Given the description of an element on the screen output the (x, y) to click on. 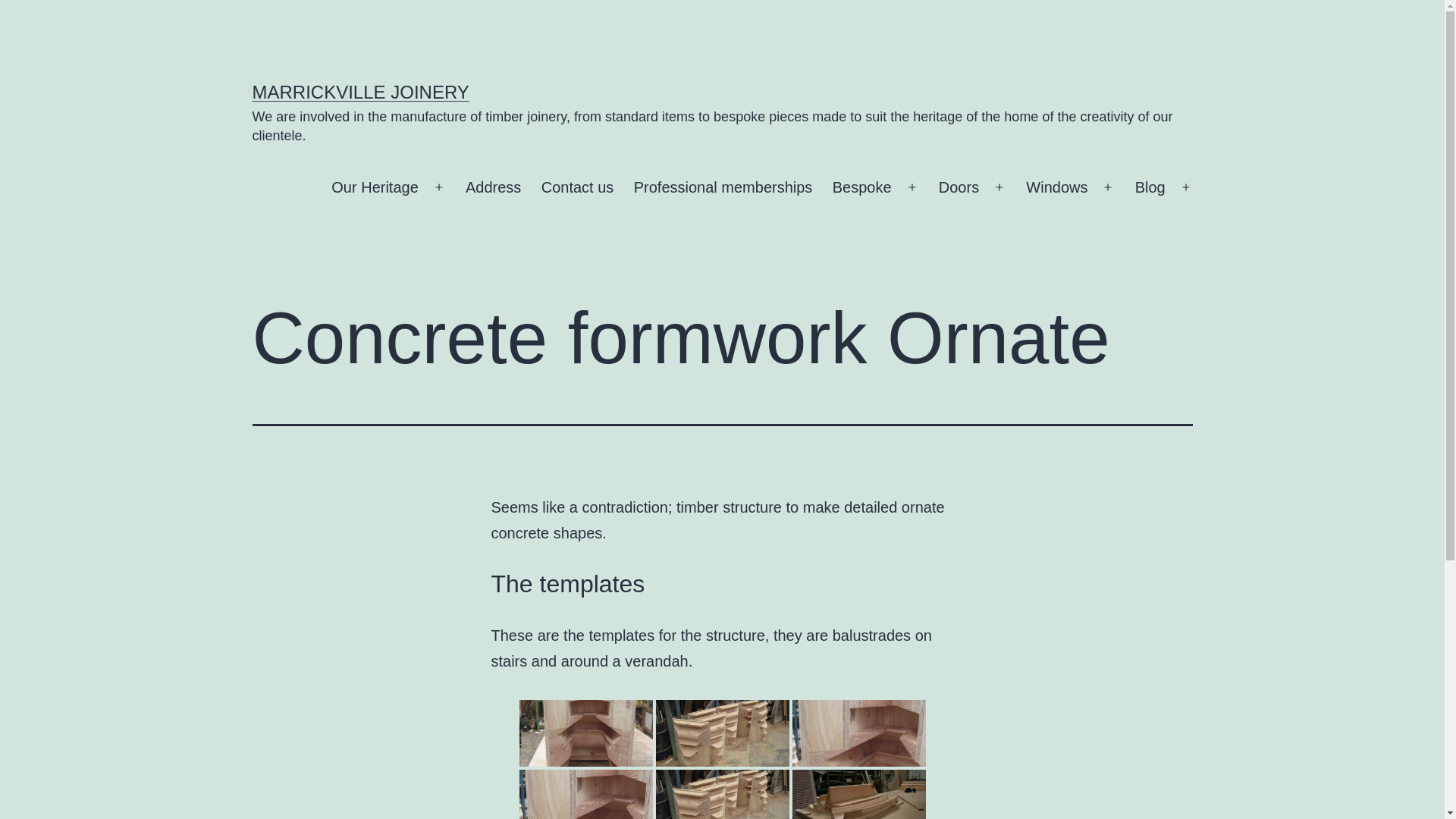
Open menu Element type: text (1185, 188)
MARRICKVILLE JOINERY Element type: text (359, 91)
Address Element type: text (493, 188)
Bespoke Element type: text (861, 188)
219-1038x576 Element type: hover (721, 733)
Open menu Element type: text (911, 188)
Doors Element type: text (958, 188)
Open menu Element type: text (438, 188)
Windows Element type: text (1057, 188)
Open menu Element type: text (1107, 188)
Our Heritage Element type: text (374, 188)
Open menu Element type: text (999, 188)
Professional memberships Element type: text (723, 188)
217-1038x576 Element type: hover (585, 733)
Contact us Element type: text (577, 188)
Blog Element type: text (1149, 188)
